Given the description of an element on the screen output the (x, y) to click on. 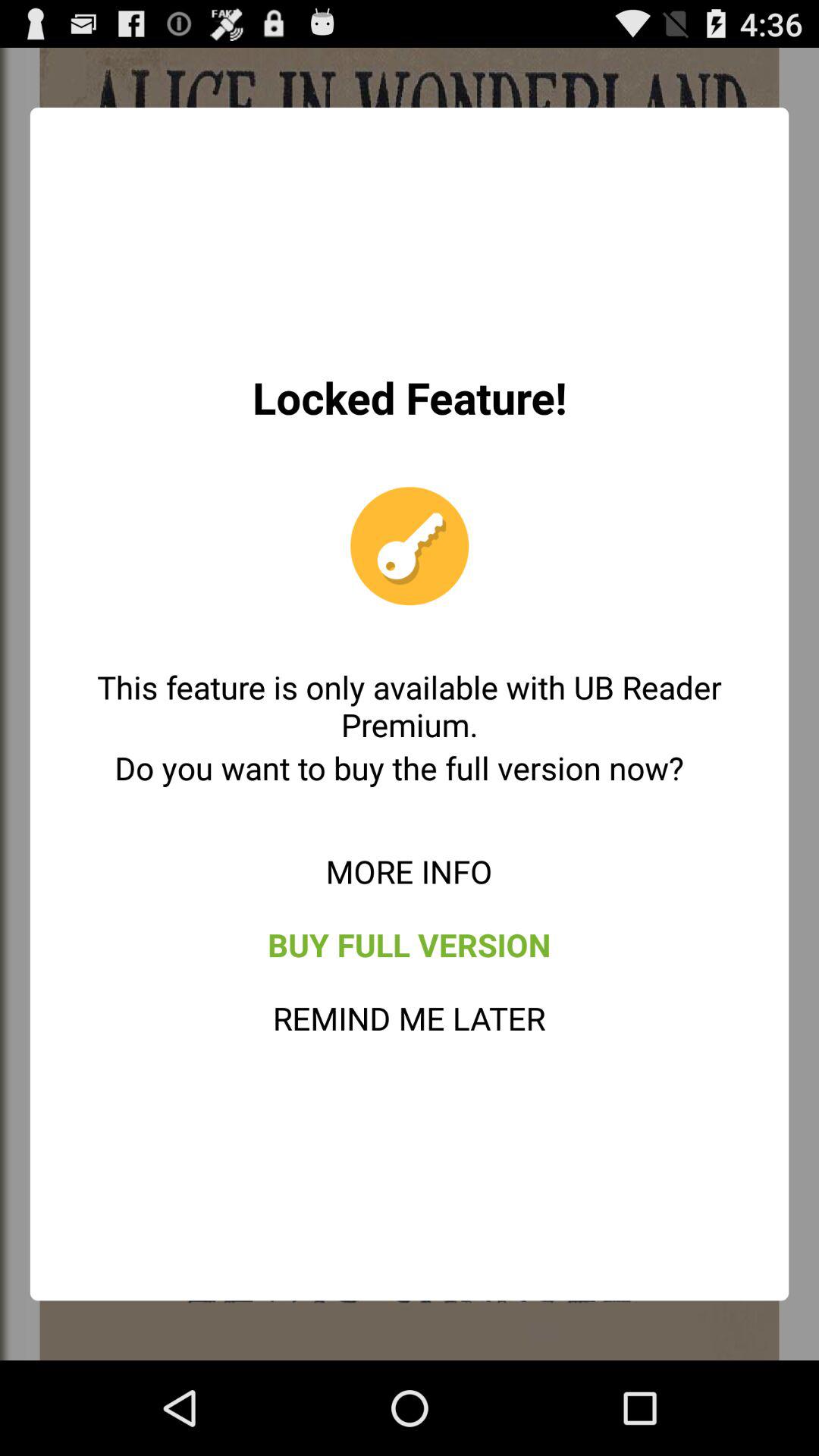
launch the more info (408, 870)
